Given the description of an element on the screen output the (x, y) to click on. 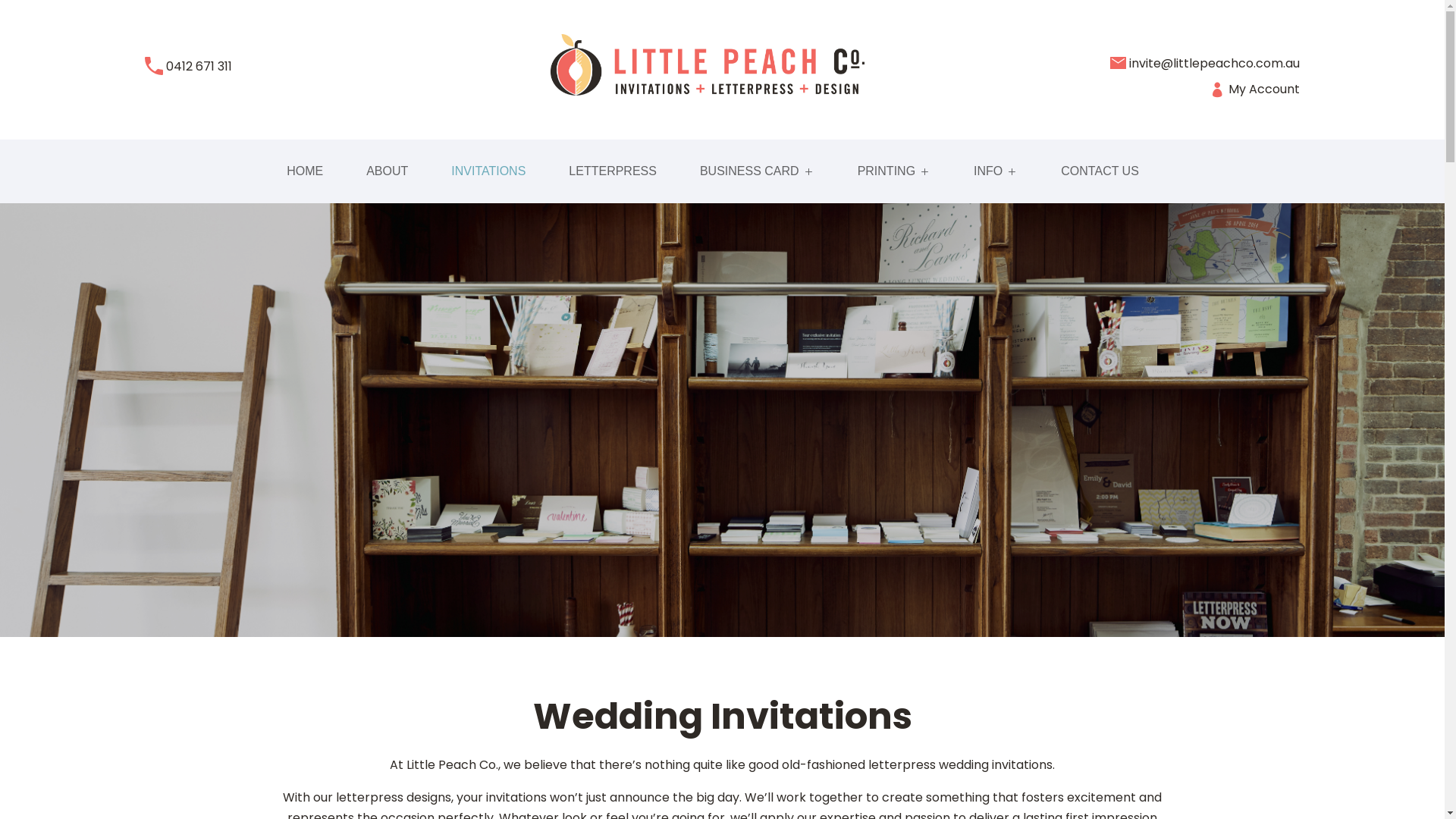
INFO Element type: text (995, 174)
LETTERPRESS Element type: text (612, 174)
CONTACT US Element type: text (1099, 174)
Logo Element type: hover (707, 72)
ABOUT Element type: text (386, 174)
invite@littlepeachco.com.au Element type: text (1214, 63)
PRINTING Element type: text (893, 174)
0412 671 311 Element type: text (199, 66)
HOME Element type: text (304, 174)
BUSINESS CARD Element type: text (756, 174)
My Account Element type: text (1254, 88)
INVITATIONS Element type: text (488, 174)
